Given the description of an element on the screen output the (x, y) to click on. 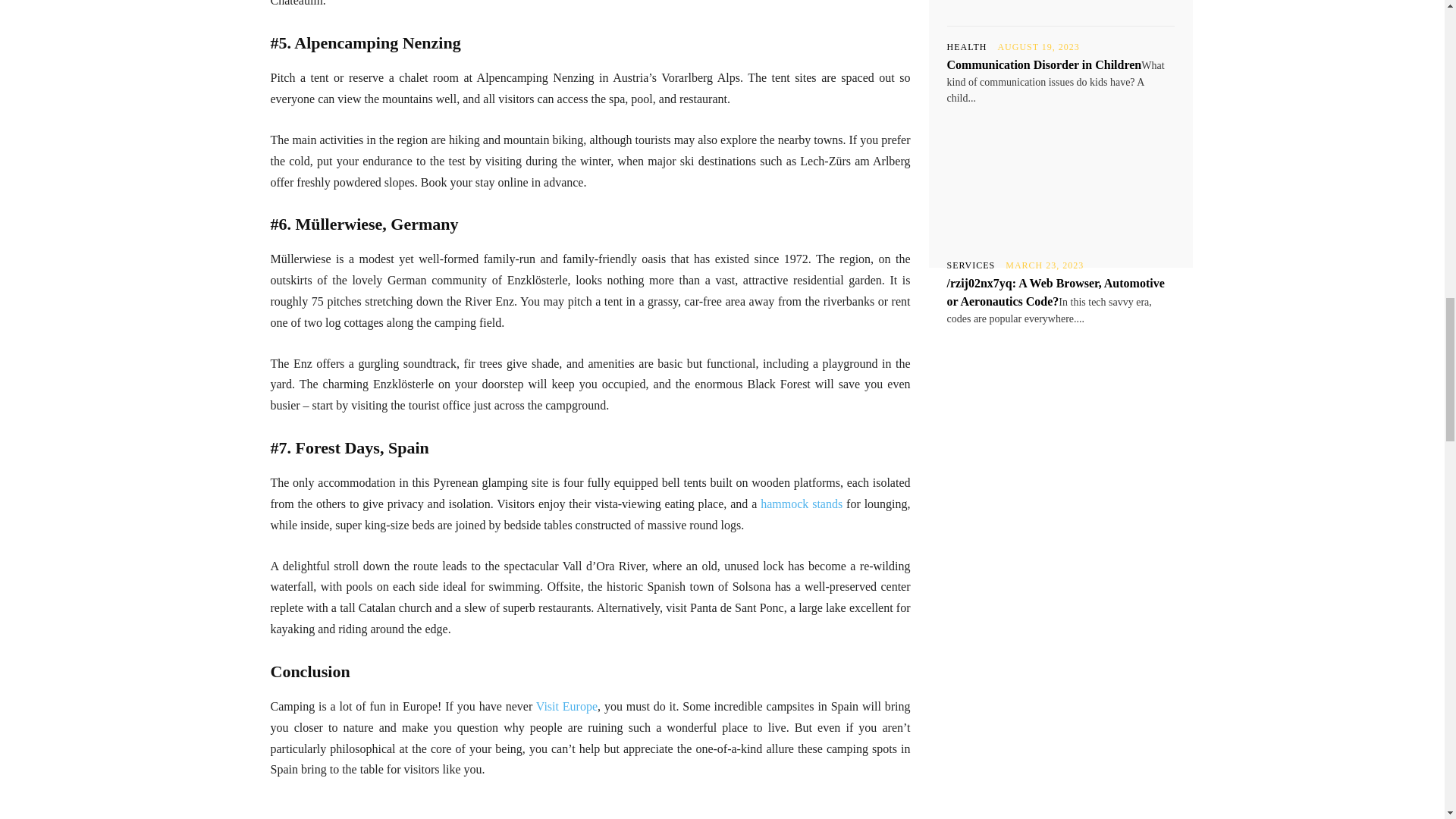
Visit Europe (565, 706)
hammock stands (801, 503)
